Given the description of an element on the screen output the (x, y) to click on. 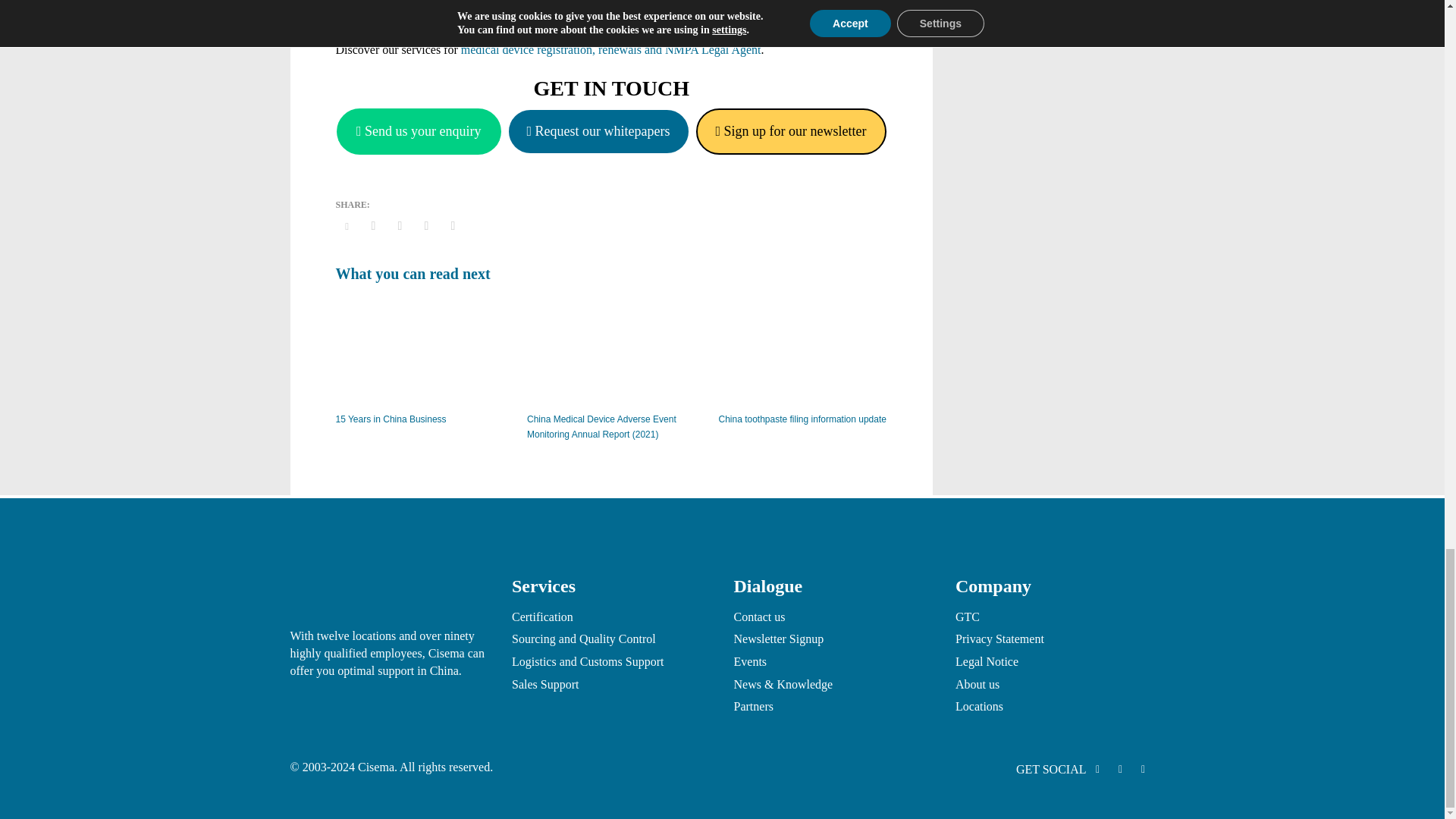
LinkedIn (1097, 769)
China medical device adverse event monitoring (611, 349)
SHARE ON GPLUS (399, 225)
SHARE ON MAIL (452, 225)
China toothpaste filing information (801, 349)
SHARE ON PINTEREST (426, 225)
Twitter (1142, 769)
SHARE ON FACEBOOK (373, 225)
Youtube (1119, 769)
SHARE ON TWITTER (346, 226)
